Given the description of an element on the screen output the (x, y) to click on. 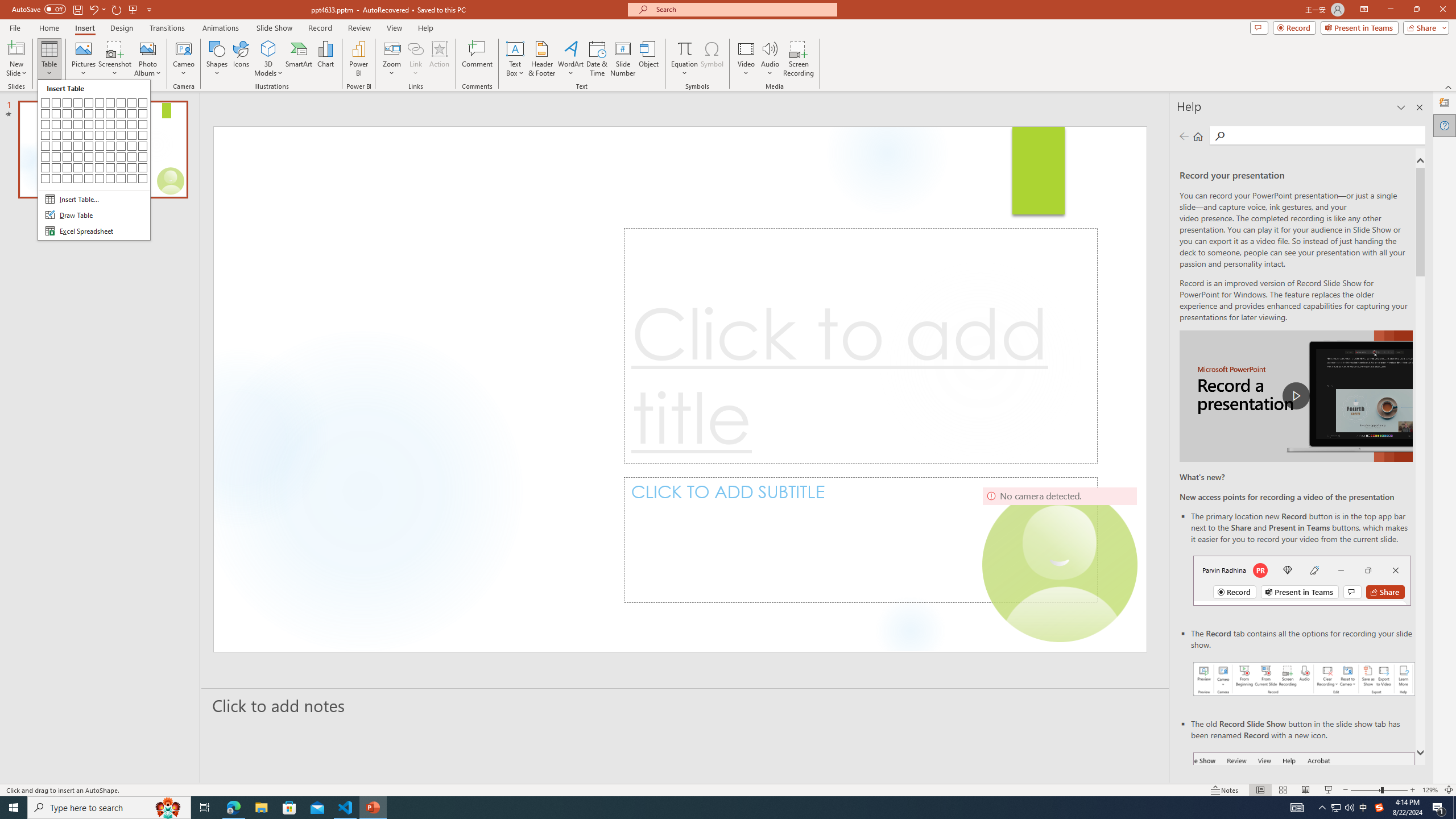
Screen Recording... (798, 58)
Chart... (325, 58)
Action (439, 58)
Table (49, 58)
Symbol... (711, 58)
